Given the description of an element on the screen output the (x, y) to click on. 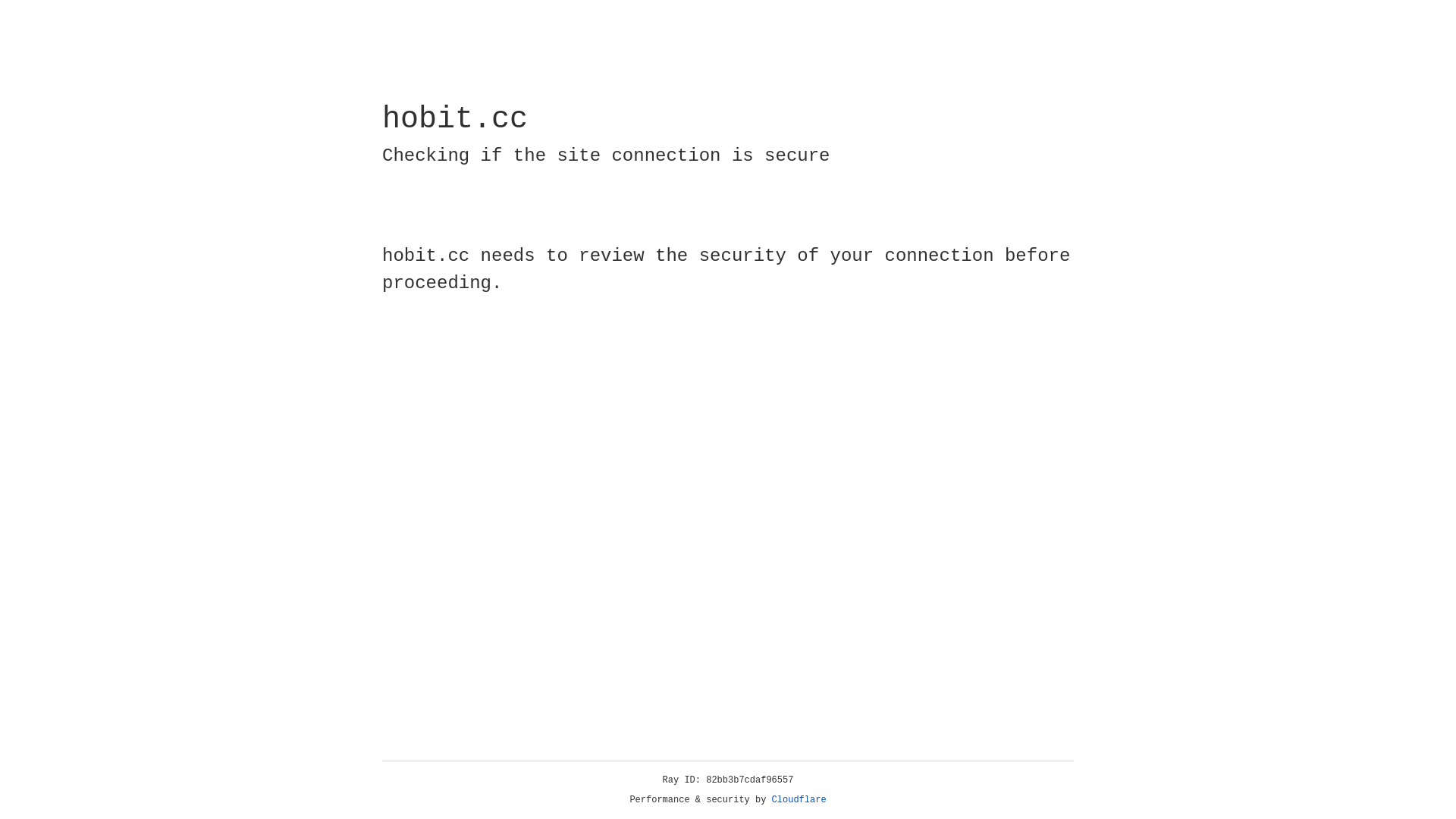
Cloudflare Element type: text (798, 799)
